Given the description of an element on the screen output the (x, y) to click on. 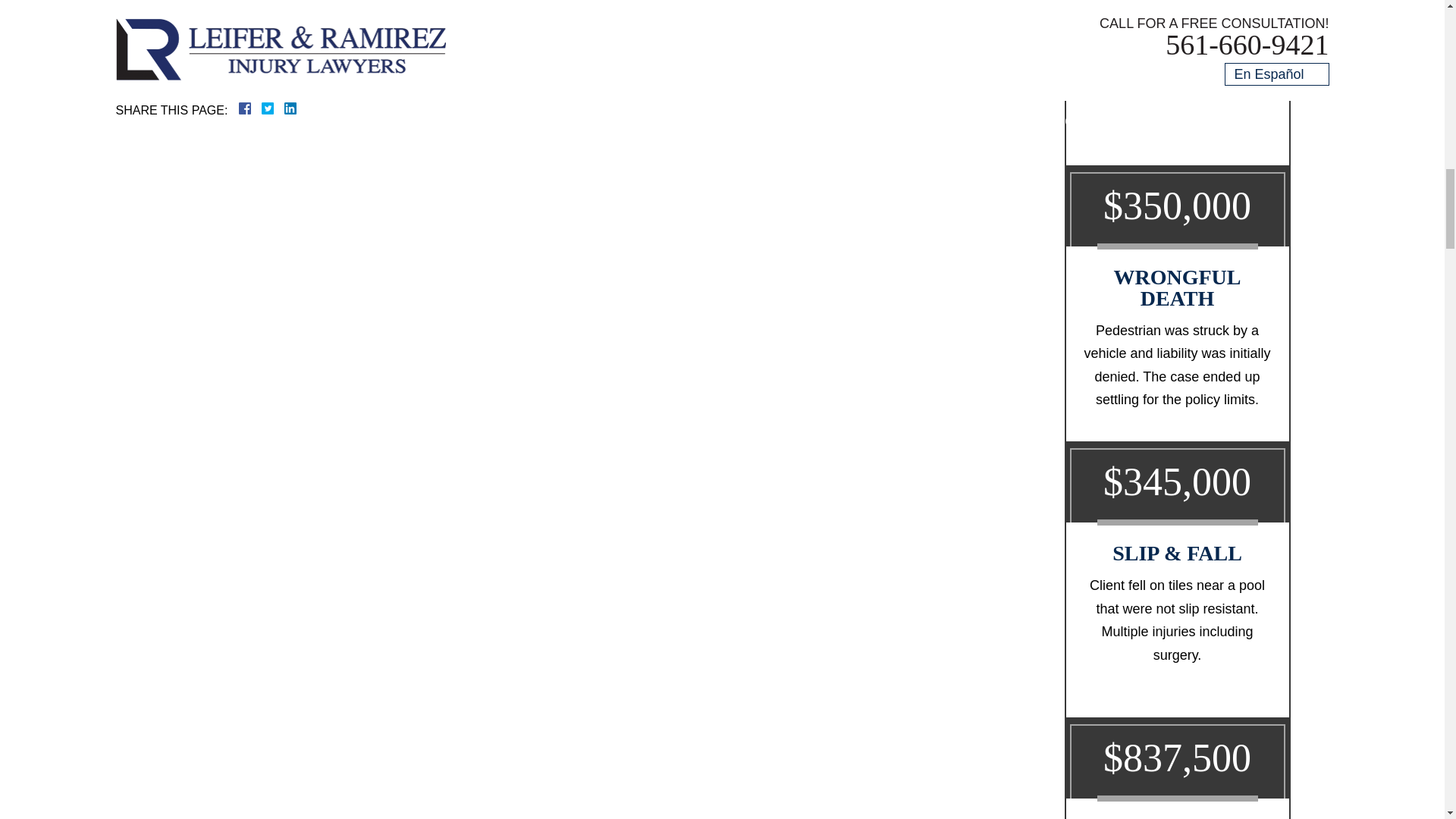
LinkedIn (284, 108)
Twitter (273, 108)
Facebook (262, 108)
